Given the description of an element on the screen output the (x, y) to click on. 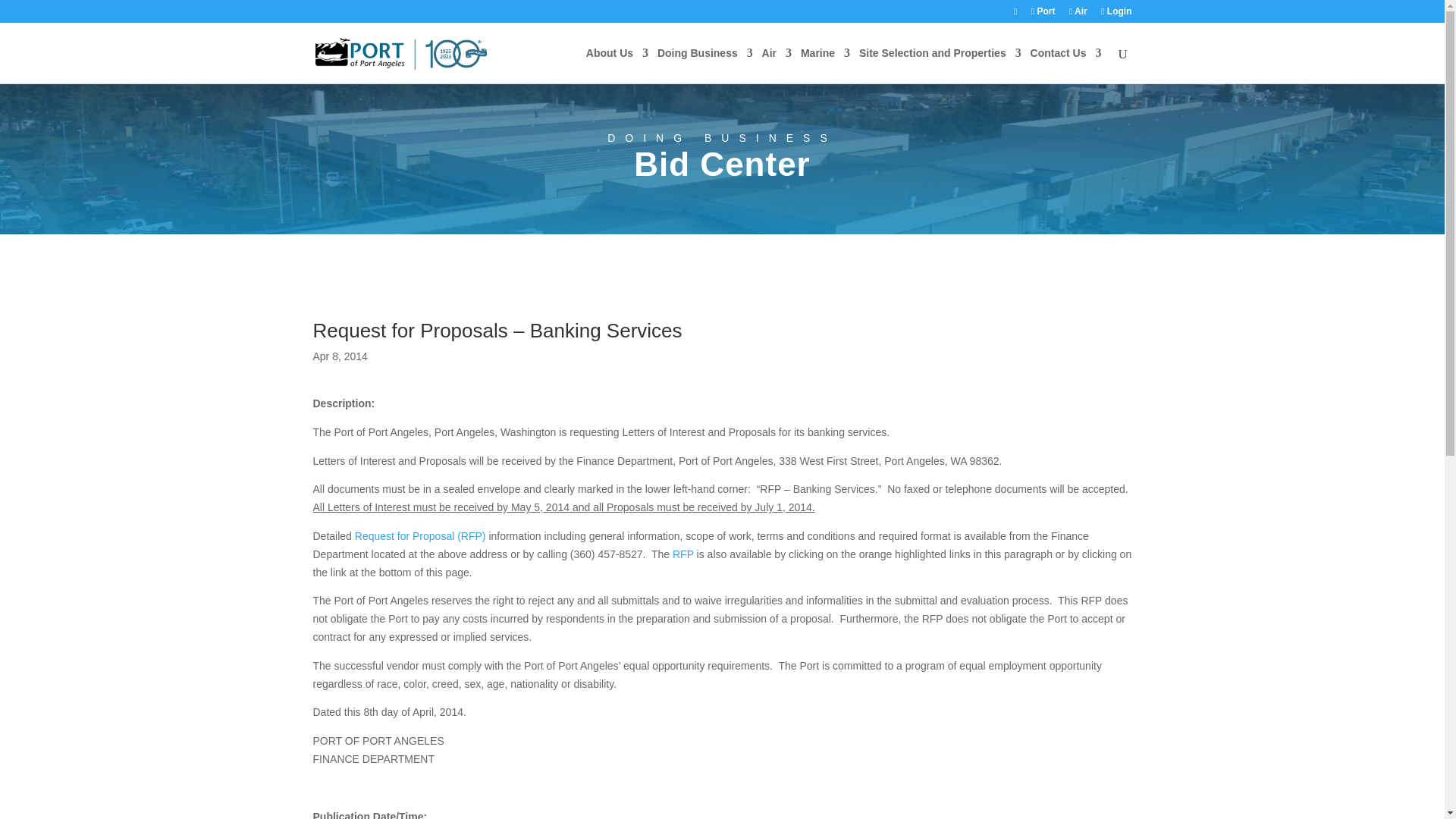
Air (1077, 14)
Port (1042, 14)
About Us (616, 65)
Login (1115, 14)
Doing Business (705, 65)
